Given the description of an element on the screen output the (x, y) to click on. 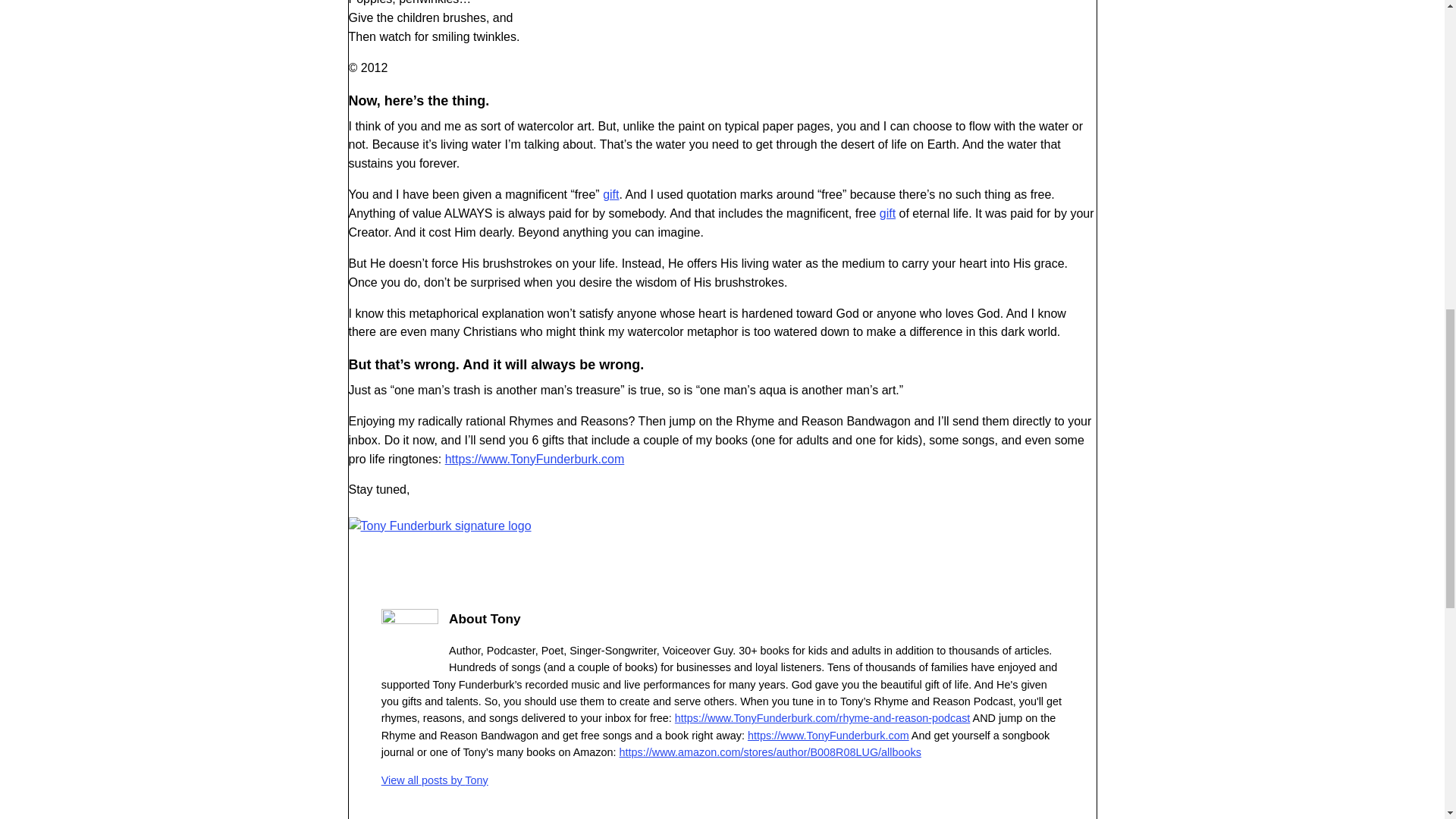
gift (610, 194)
gift (887, 213)
View all posts by Tony (434, 779)
